Given the description of an element on the screen output the (x, y) to click on. 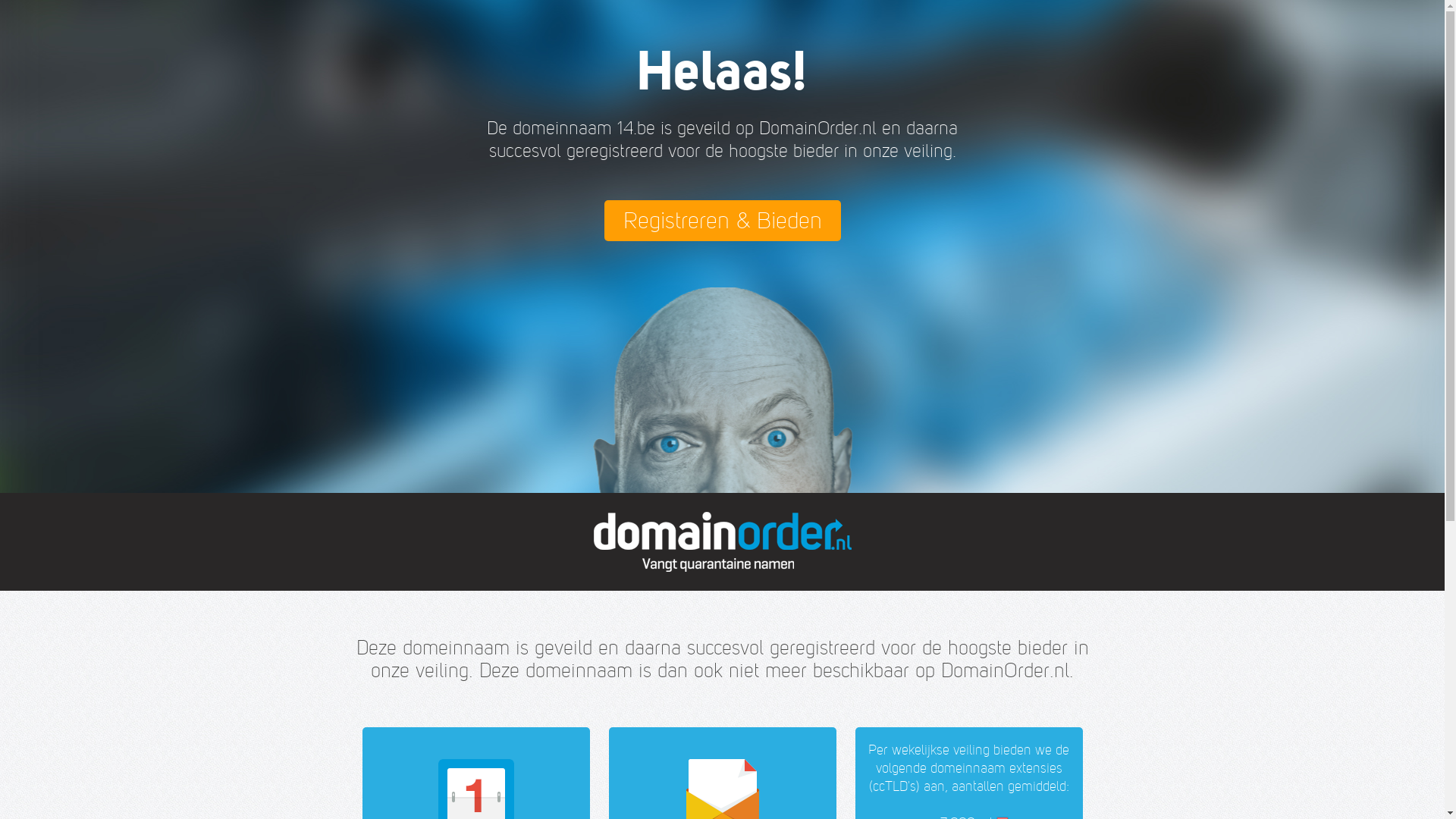
Registreren & Bieden Element type: text (721, 220)
